Given the description of an element on the screen output the (x, y) to click on. 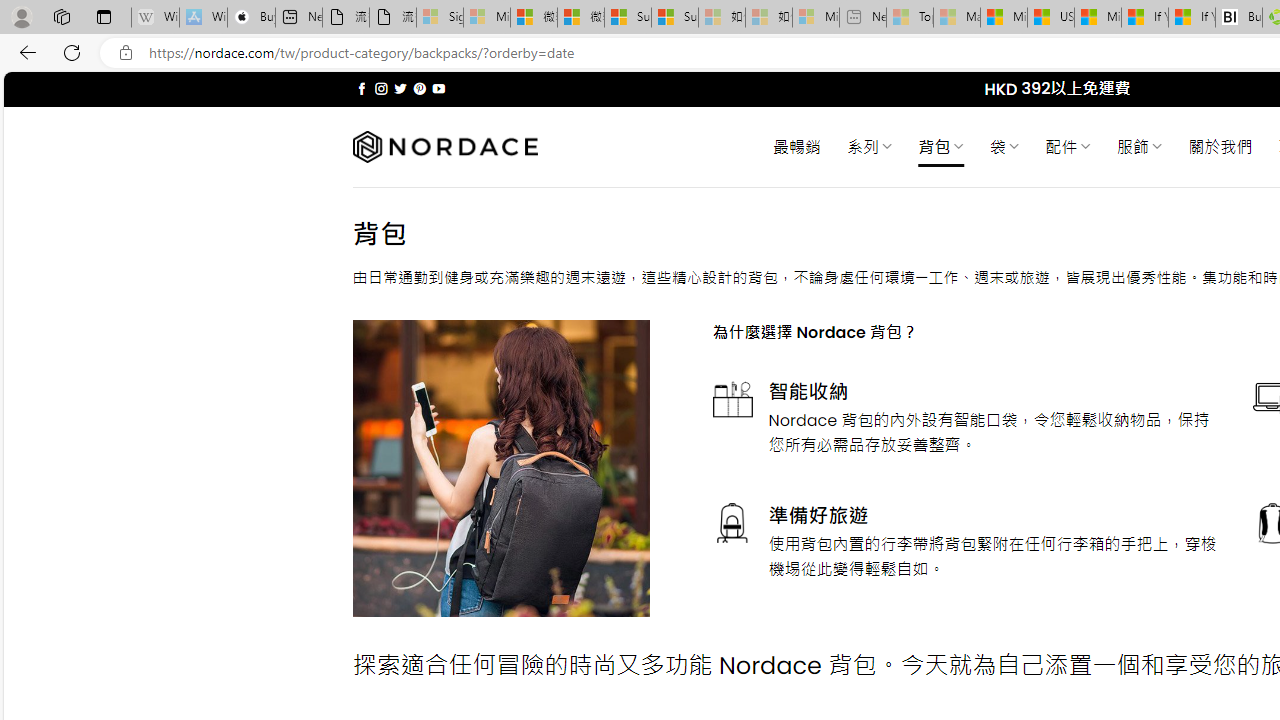
Follow on Twitter (400, 88)
